Given the description of an element on the screen output the (x, y) to click on. 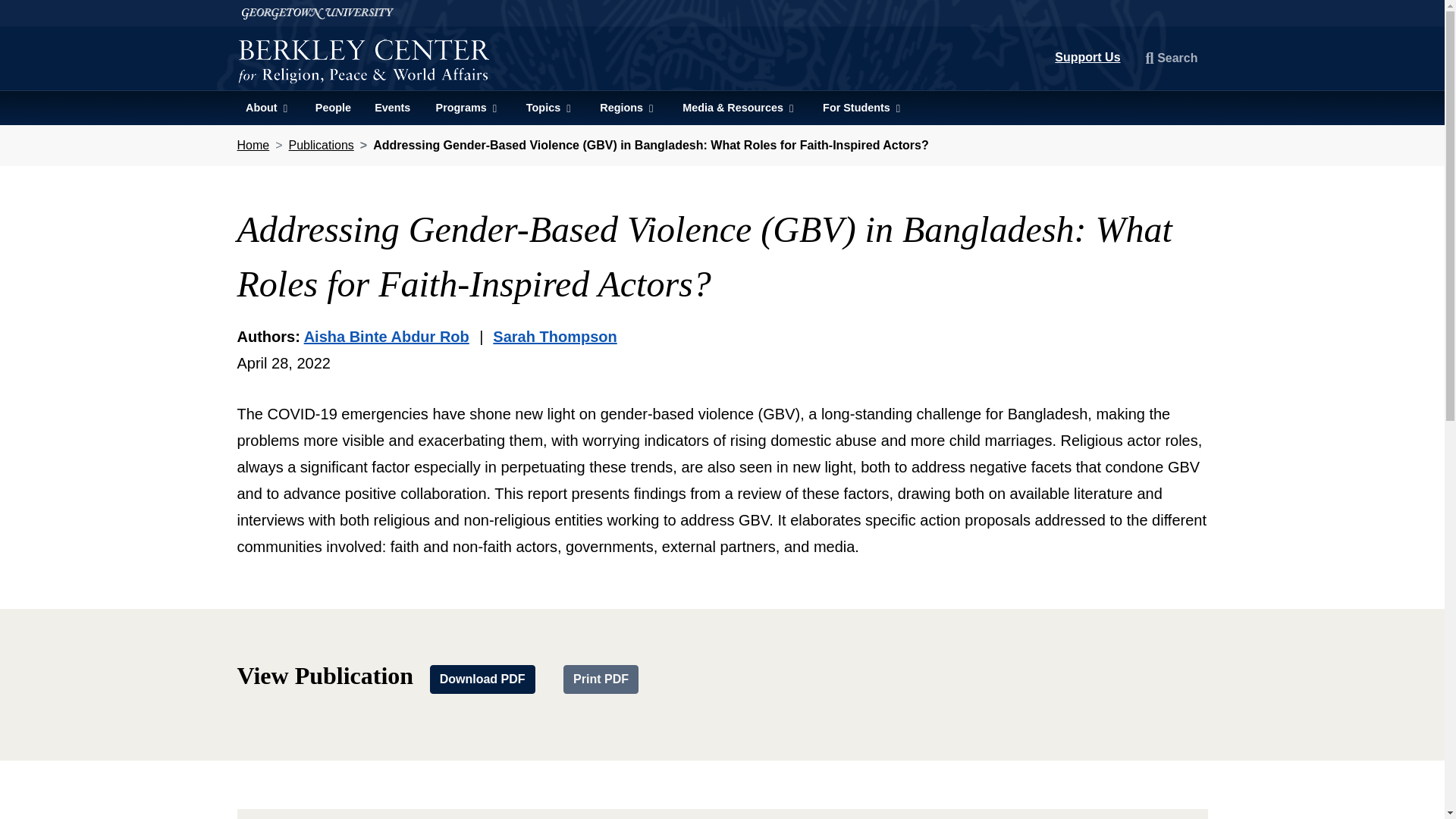
Georgetown University (721, 13)
Berkley Center fo Religion, Peace and World Affairs (362, 59)
Search this site (1171, 58)
Events (392, 107)
People (332, 107)
Search (1171, 58)
Support Us (1086, 56)
Programs (467, 107)
About (266, 107)
Topics (548, 107)
